Given the description of an element on the screen output the (x, y) to click on. 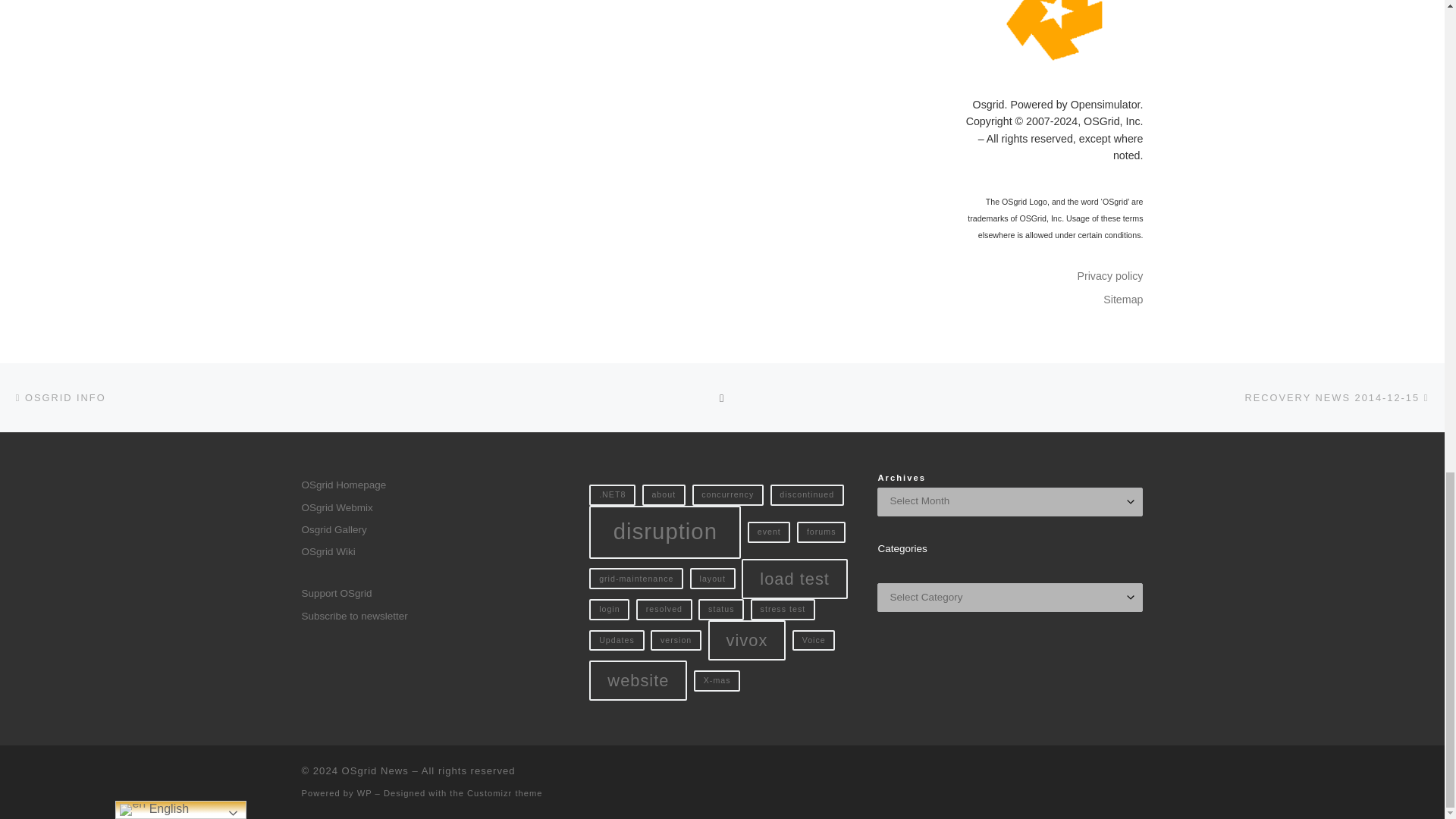
OSgrid News (375, 770)
Powered by WordPress (364, 792)
Customizr theme (505, 792)
